Given the description of an element on the screen output the (x, y) to click on. 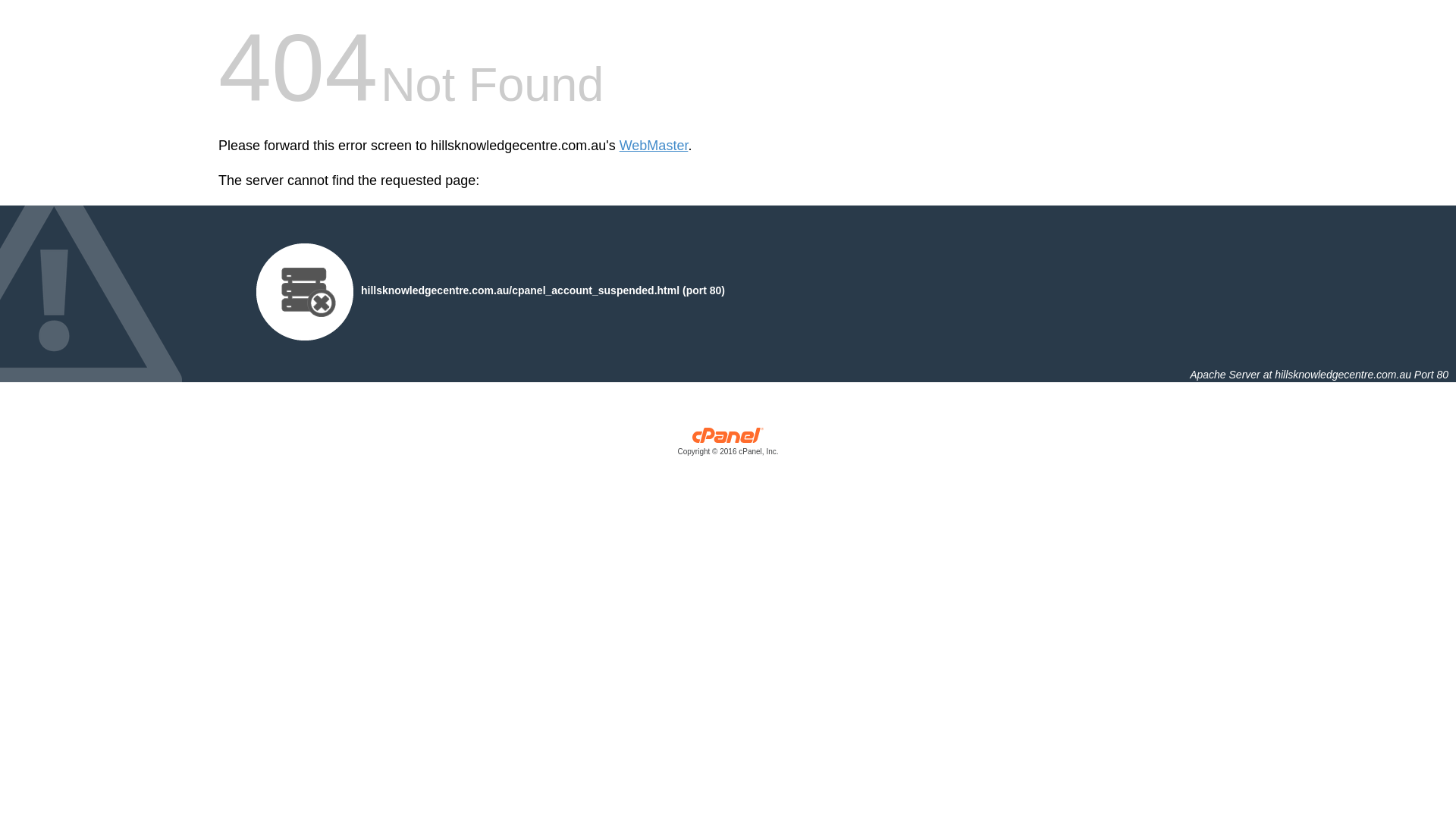
WebMaster Element type: text (653, 145)
